Given the description of an element on the screen output the (x, y) to click on. 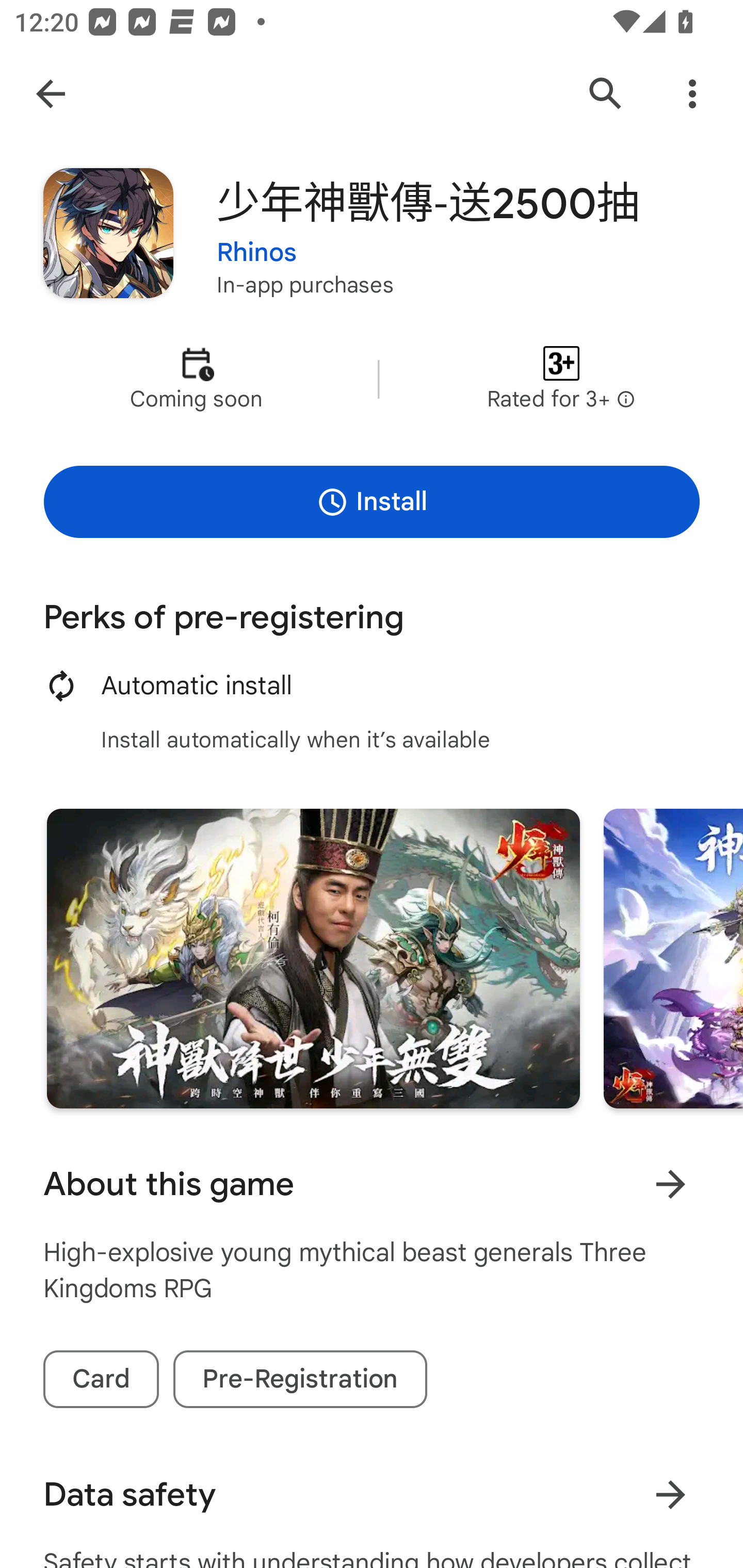
Navigate up (50, 93)
Search Google Play (605, 93)
More Options (692, 93)
Rhinos (256, 253)
Content rating Rated for 3+ (561, 379)
Install Pre-register to install (371, 501)
Screenshot "1" of "7" (313, 958)
About this game Learn more About this game (371, 1184)
Learn more About this game (670, 1184)
Card tag (101, 1378)
Pre-Registration tag (300, 1378)
Data safety Learn more about data safety (371, 1495)
Learn more about data safety (670, 1494)
